Given the description of an element on the screen output the (x, y) to click on. 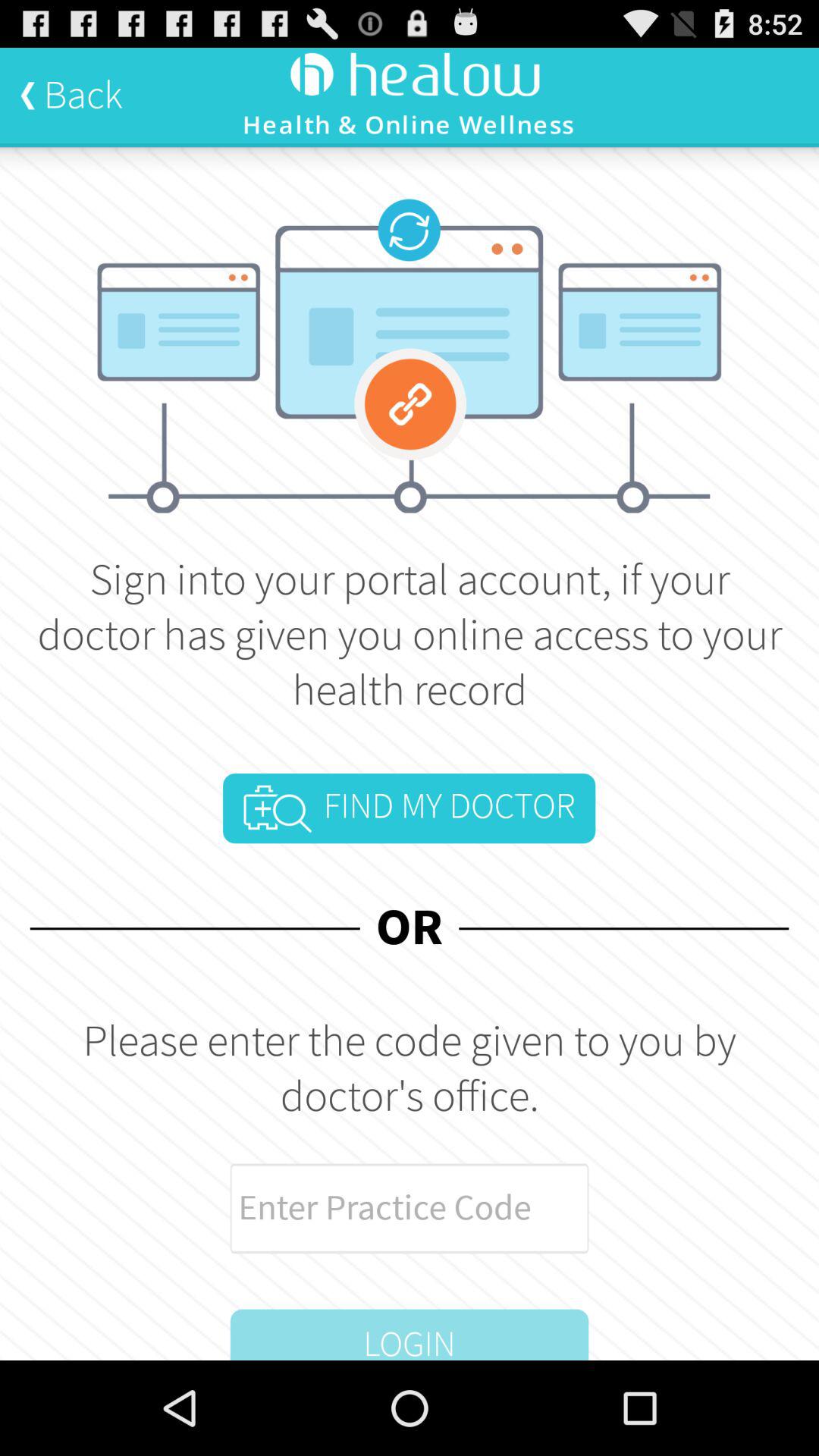
jump until back icon (70, 95)
